Given the description of an element on the screen output the (x, y) to click on. 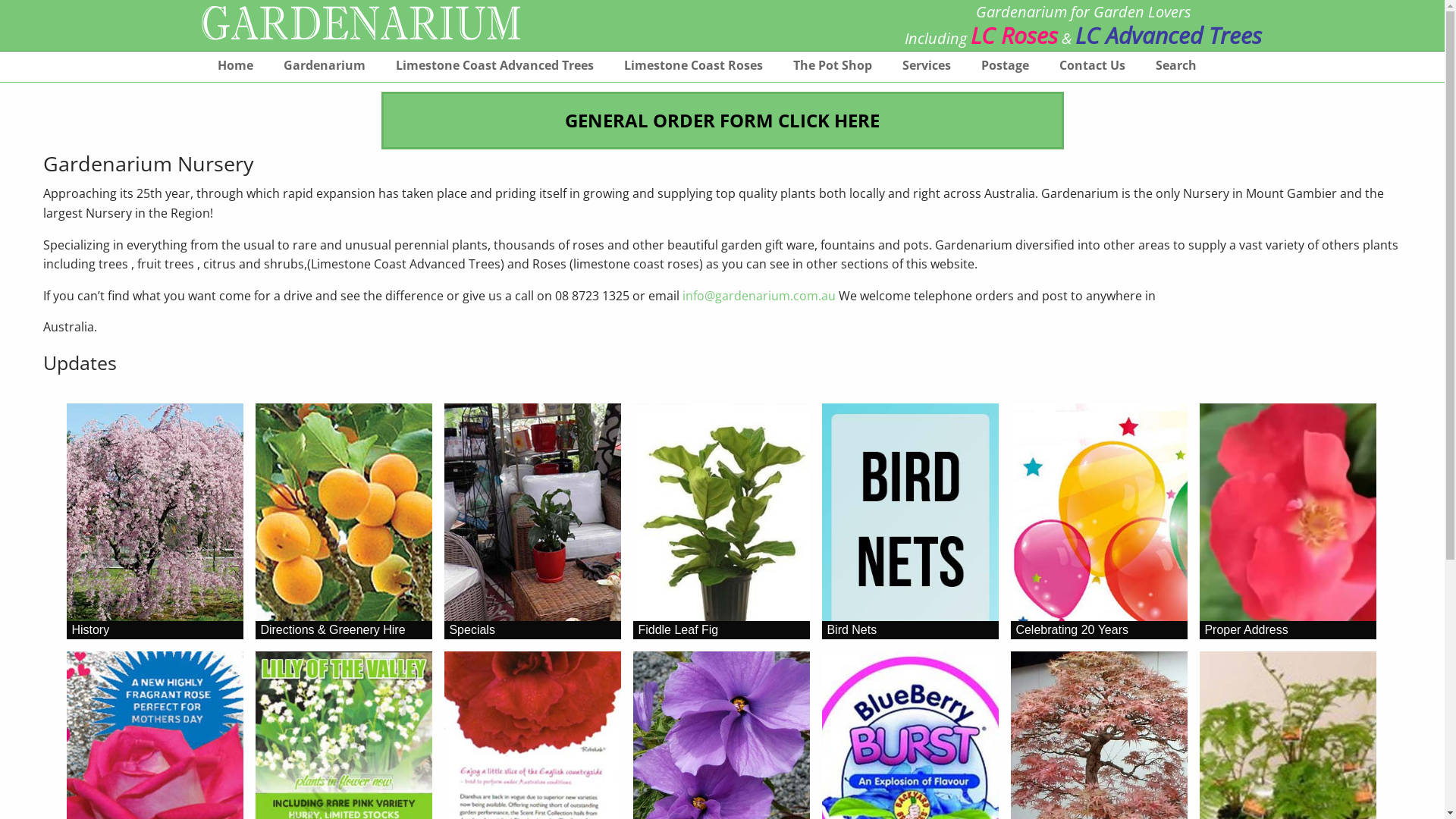
Services Element type: text (926, 69)
Search Element type: text (1175, 69)
History Element type: text (154, 521)
Home Element type: text (235, 69)
Gardenarium Element type: text (324, 69)
Postage Element type: text (1005, 69)
Bird Nets Element type: text (910, 521)
Contact Us Element type: text (1092, 69)
Fiddle Leaf Fig Element type: text (721, 521)
Directions & Greenery Hire Element type: text (343, 521)
info@gardenarium.com.au Element type: text (758, 295)
The Pot Shop Element type: text (832, 69)
Celebrating 20 Years Element type: text (1098, 521)
Limestone Coast Advanced Trees Element type: text (494, 69)
Proper Address Element type: text (1287, 521)
Specials Element type: text (532, 521)
GENERAL ORDER FORM CLICK HERE Element type: text (721, 119)
Limestone Coast Roses Element type: text (693, 69)
